Given the description of an element on the screen output the (x, y) to click on. 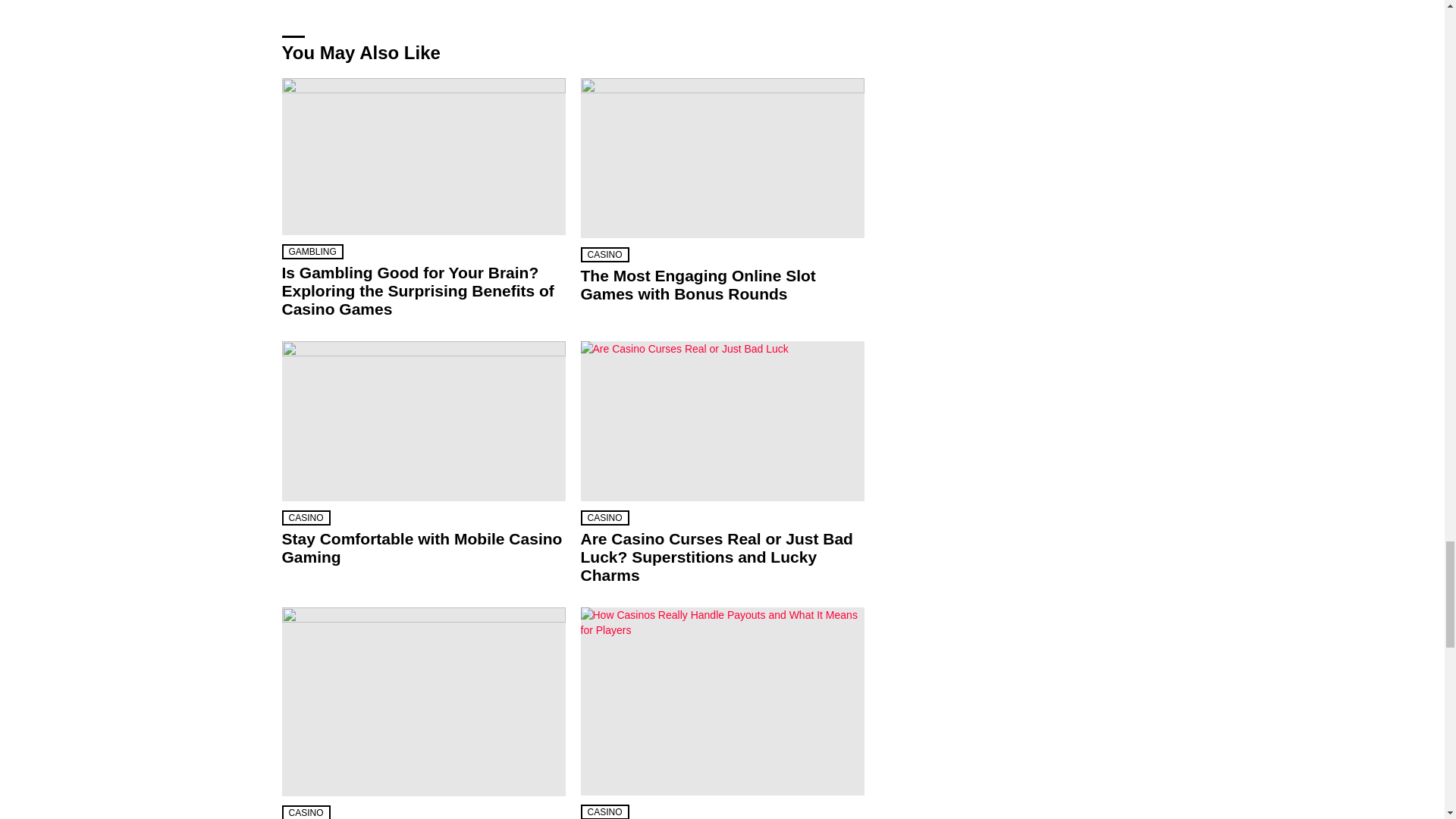
The Most Engaging Online Slot Games with Bonus Rounds (722, 157)
Stay Comfortable with Mobile Casino Gaming (424, 421)
GAMBLING (312, 251)
